Given the description of an element on the screen output the (x, y) to click on. 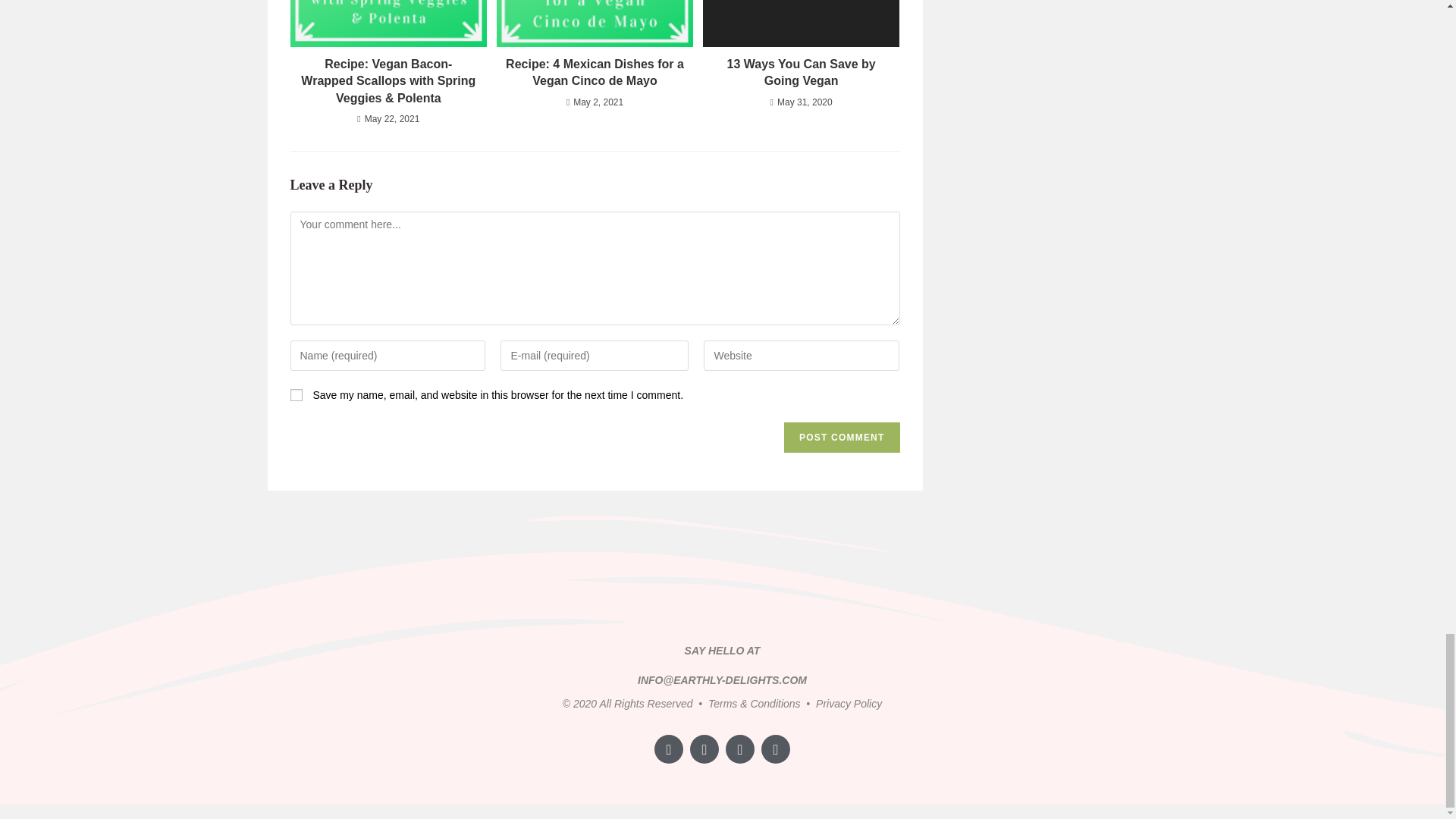
Post Comment (841, 437)
Recipe: 4 Mexican Dishes for a Vegan Cinco de Mayo (594, 73)
13 Ways You Can Save by Going Vegan (801, 73)
yes (295, 395)
